Given the description of an element on the screen output the (x, y) to click on. 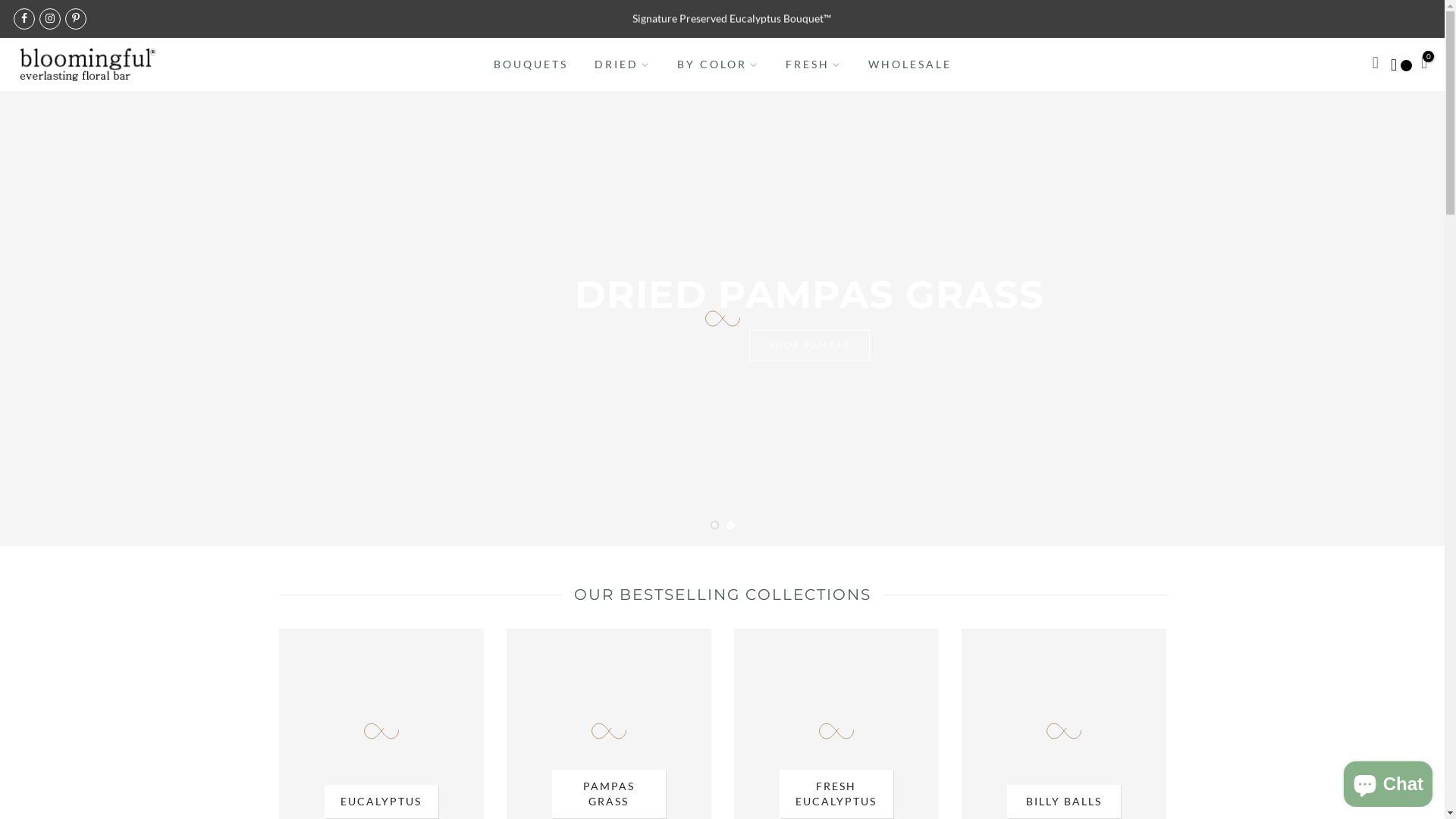
Here Element type: text (819, 18)
SHOP ALL Element type: text (862, 366)
WHOLESALE Element type: text (909, 64)
SHOP PAMPAS Element type: text (739, 366)
SHOP EUCALYPTUS Element type: text (599, 366)
DRIED Element type: text (621, 64)
0 Element type: text (1424, 64)
BOUQUETS Element type: text (530, 64)
Shopify online store chat Element type: hover (1388, 780)
FRESH Element type: text (812, 64)
BY COLOR Element type: text (717, 64)
